Given the description of an element on the screen output the (x, y) to click on. 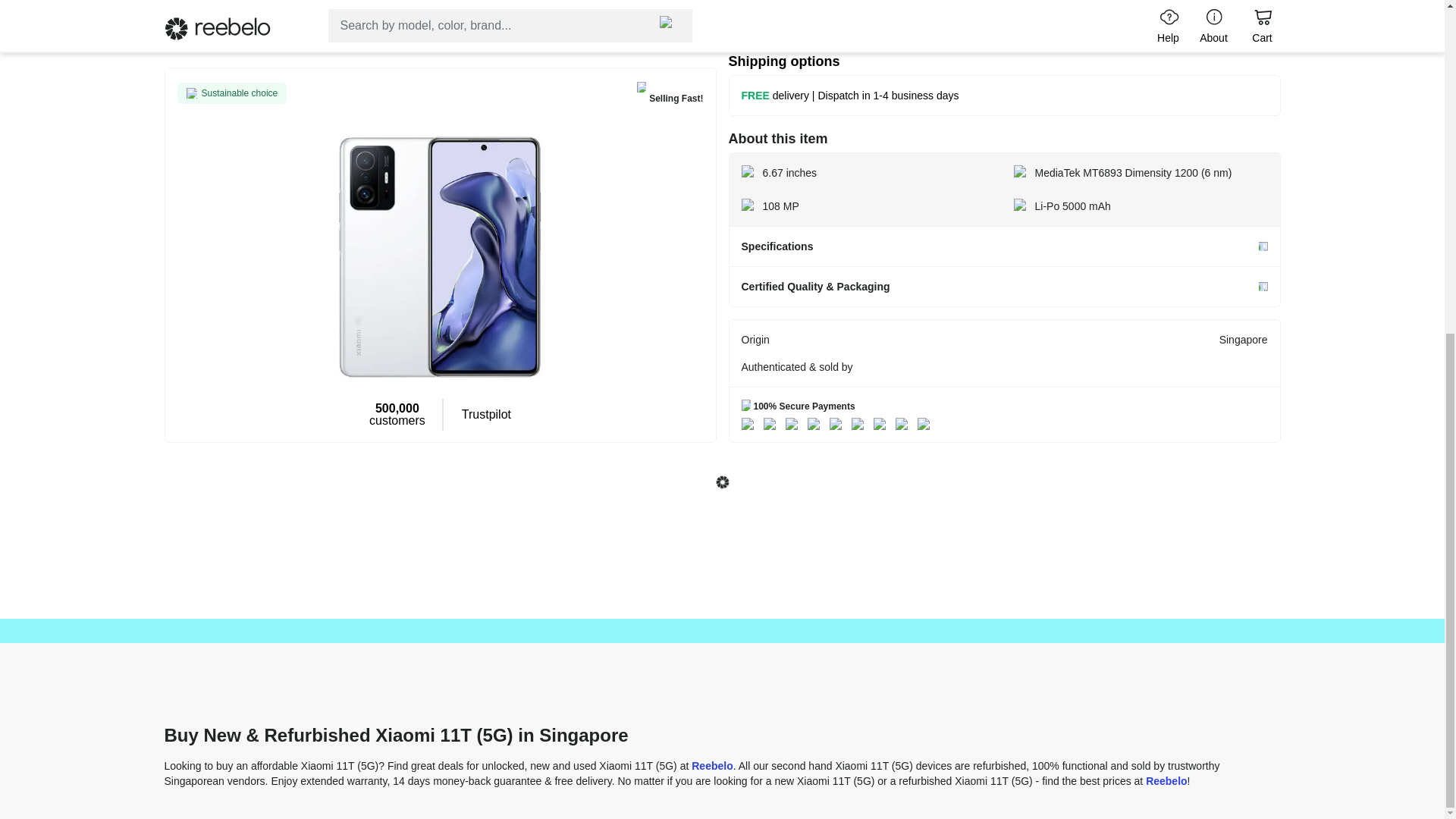
PayNow (926, 423)
PayPal (815, 423)
American Express (795, 423)
Apple Pay (838, 423)
Reebelo (1165, 779)
Google Pay (859, 423)
Specifications (1004, 246)
Visa (750, 423)
Link (904, 423)
Reebelo (711, 765)
